Given the description of an element on the screen output the (x, y) to click on. 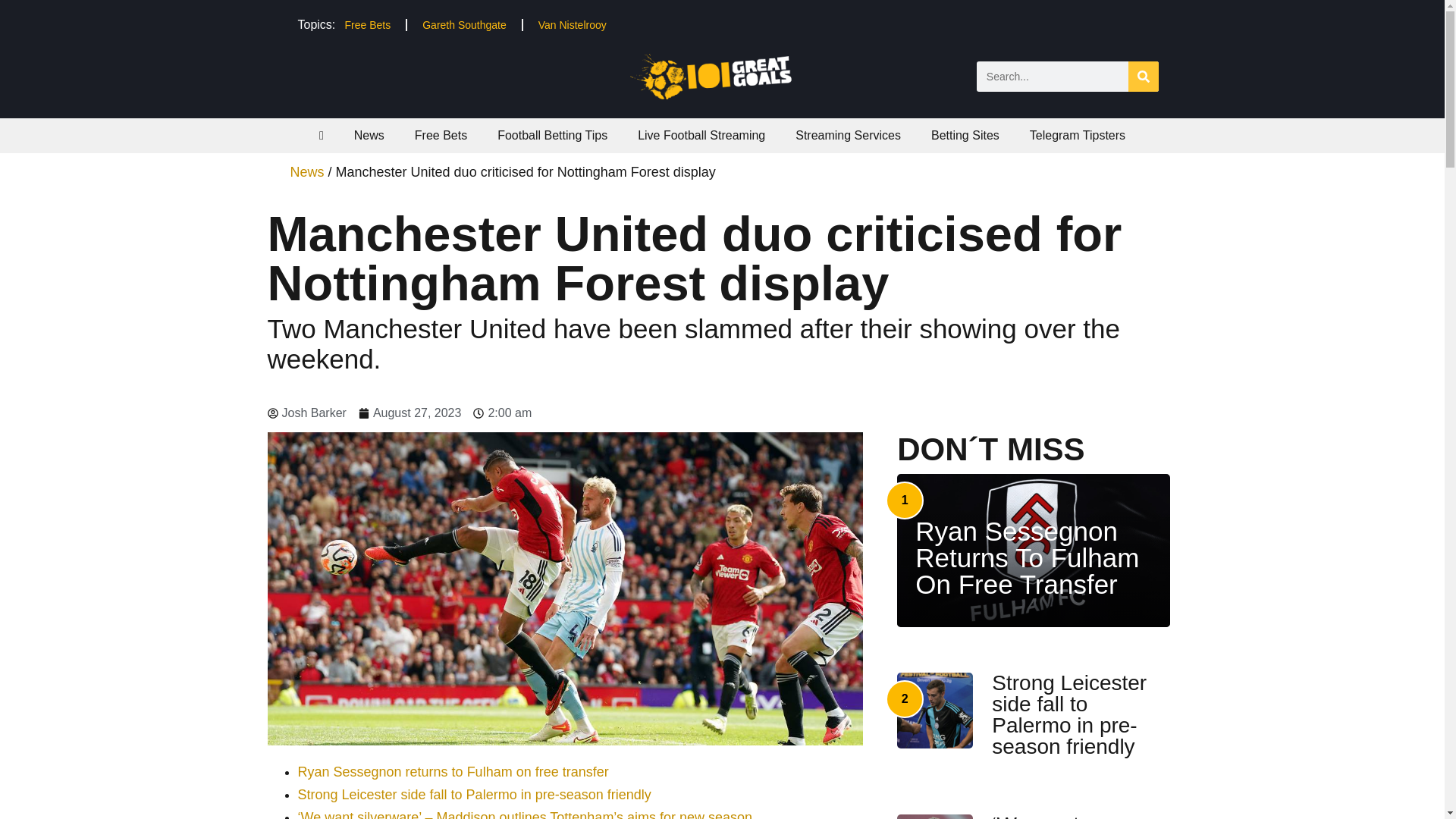
Free Bets (367, 24)
Live Football Streaming (701, 135)
Football Betting Tips (552, 135)
Gareth Southgate (464, 24)
Van Nistelrooy (571, 24)
Betting Sites (964, 135)
News (368, 135)
Streaming Services (847, 135)
Free Bets (439, 135)
